Given the description of an element on the screen output the (x, y) to click on. 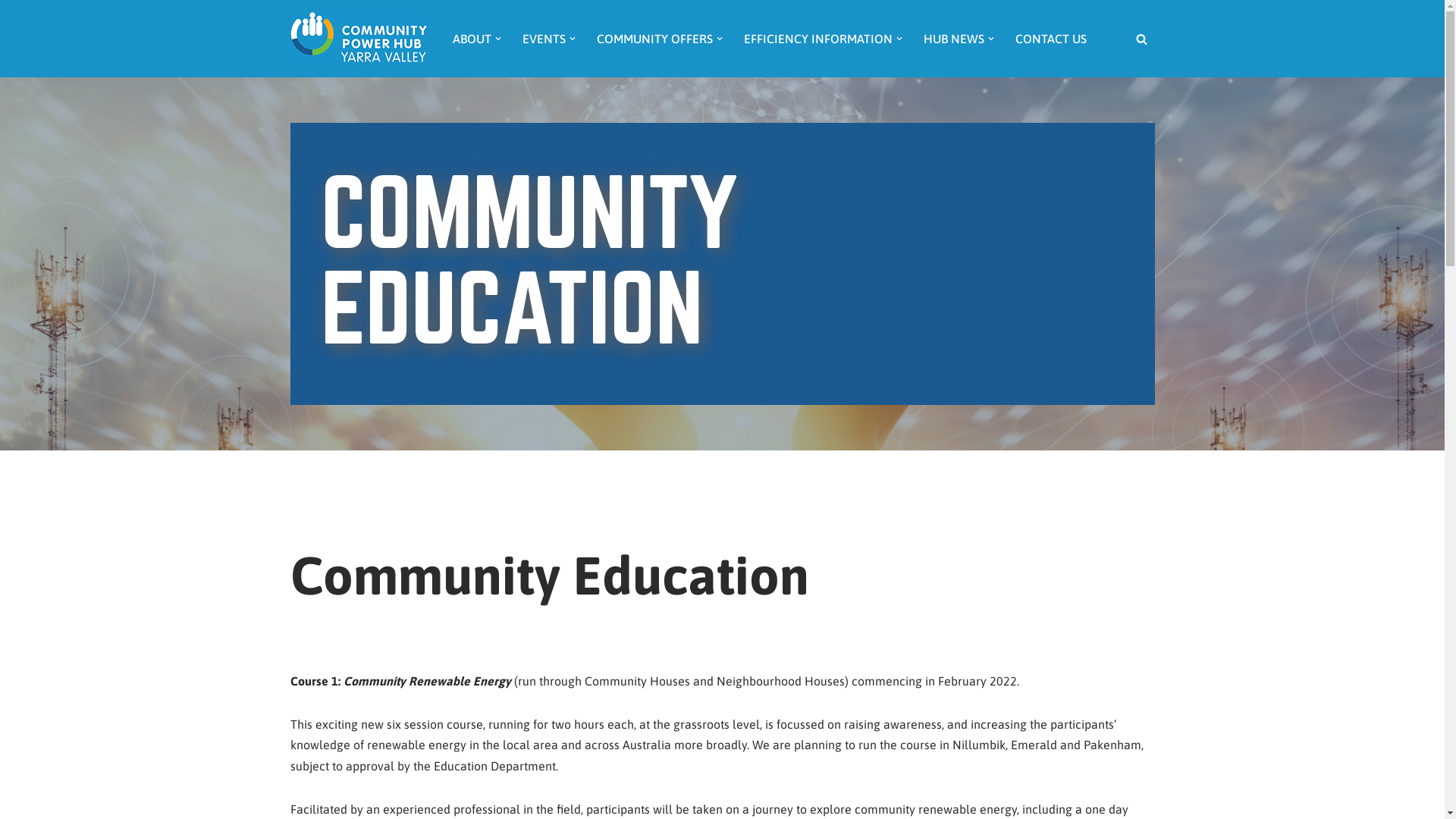
Skip to content Element type: text (11, 31)
CONTACT US Element type: text (1049, 38)
EVENTS Element type: text (542, 38)
COMMUNITY OFFERS Element type: text (654, 38)
HUB NEWS Element type: text (953, 38)
EFFICIENCY INFORMATION Element type: text (817, 38)
ABOUT Element type: text (470, 38)
